Given the description of an element on the screen output the (x, y) to click on. 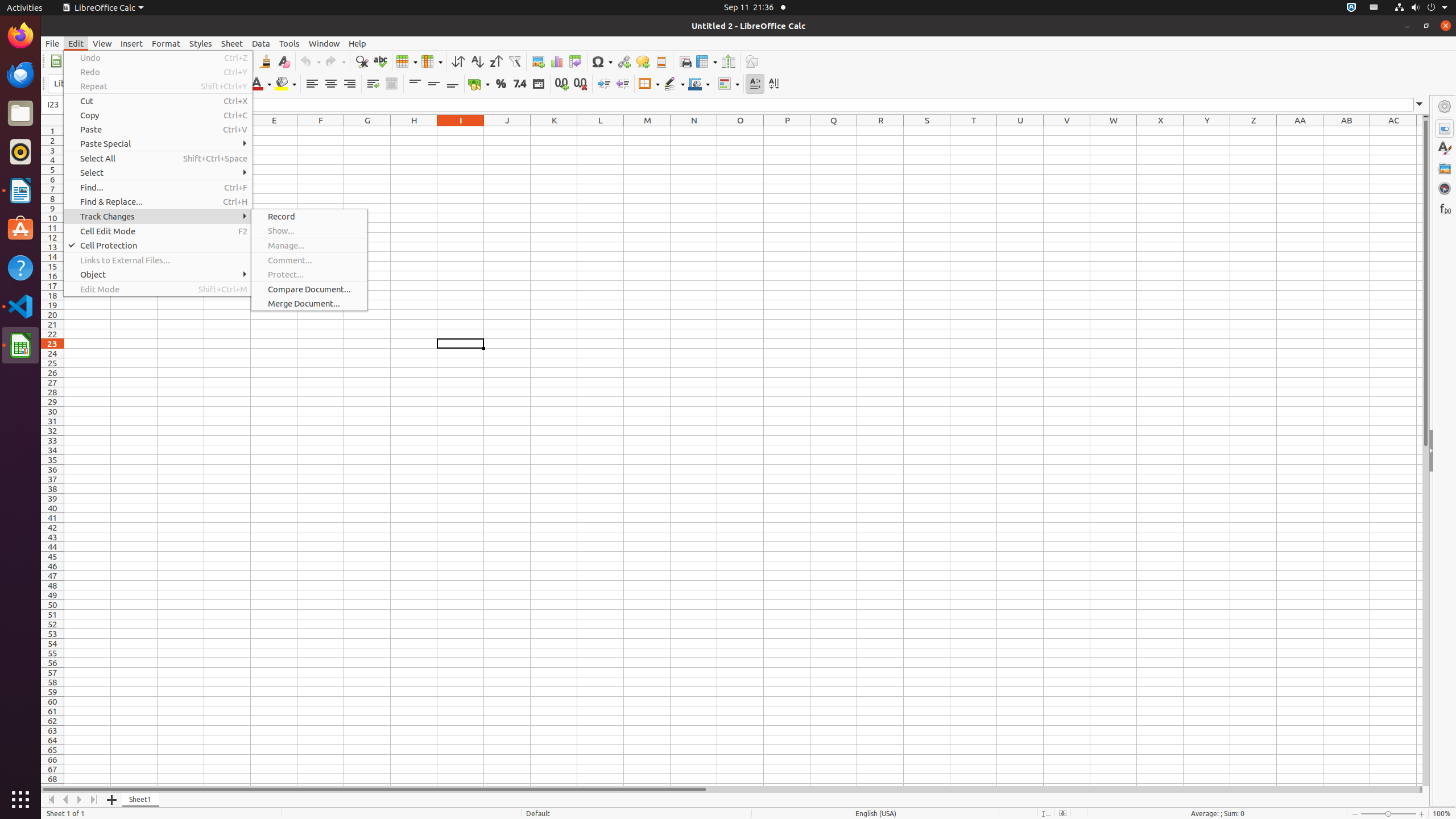
Spelling Element type: push-button (379, 61)
Date Element type: push-button (537, 83)
Properties Element type: panel (1444, 450)
Headers and Footers Element type: push-button (660, 61)
Find... Element type: menu-item (157, 187)
